Given the description of an element on the screen output the (x, y) to click on. 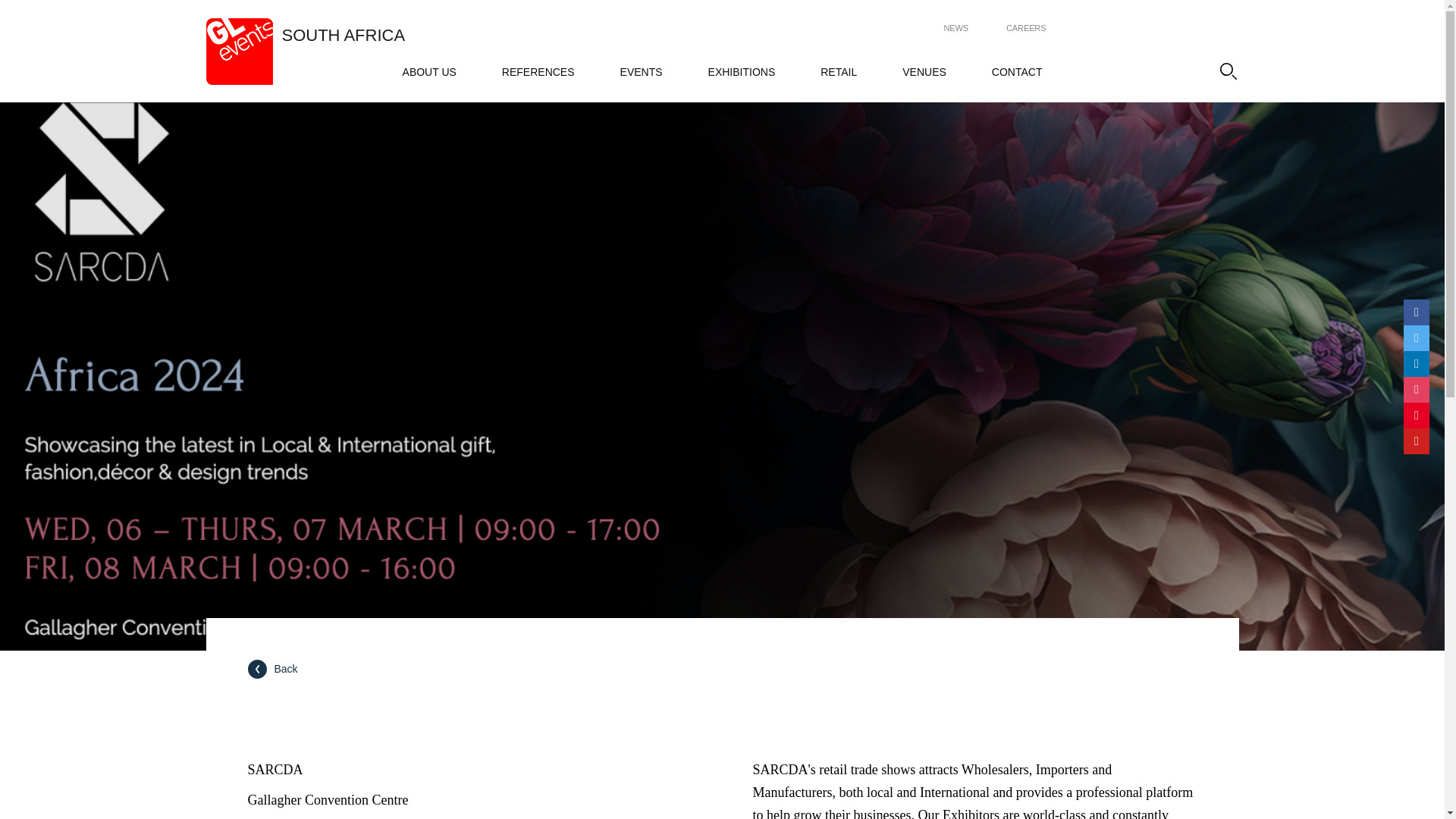
VENUES (924, 71)
EXHIBITIONS (741, 71)
NEWS (955, 28)
CAREERS (1025, 28)
CONTACT (1016, 71)
EVENTS (641, 71)
ABOUT US (430, 71)
SOUTH AFRICA (344, 35)
REFERENCES (538, 71)
